Given the description of an element on the screen output the (x, y) to click on. 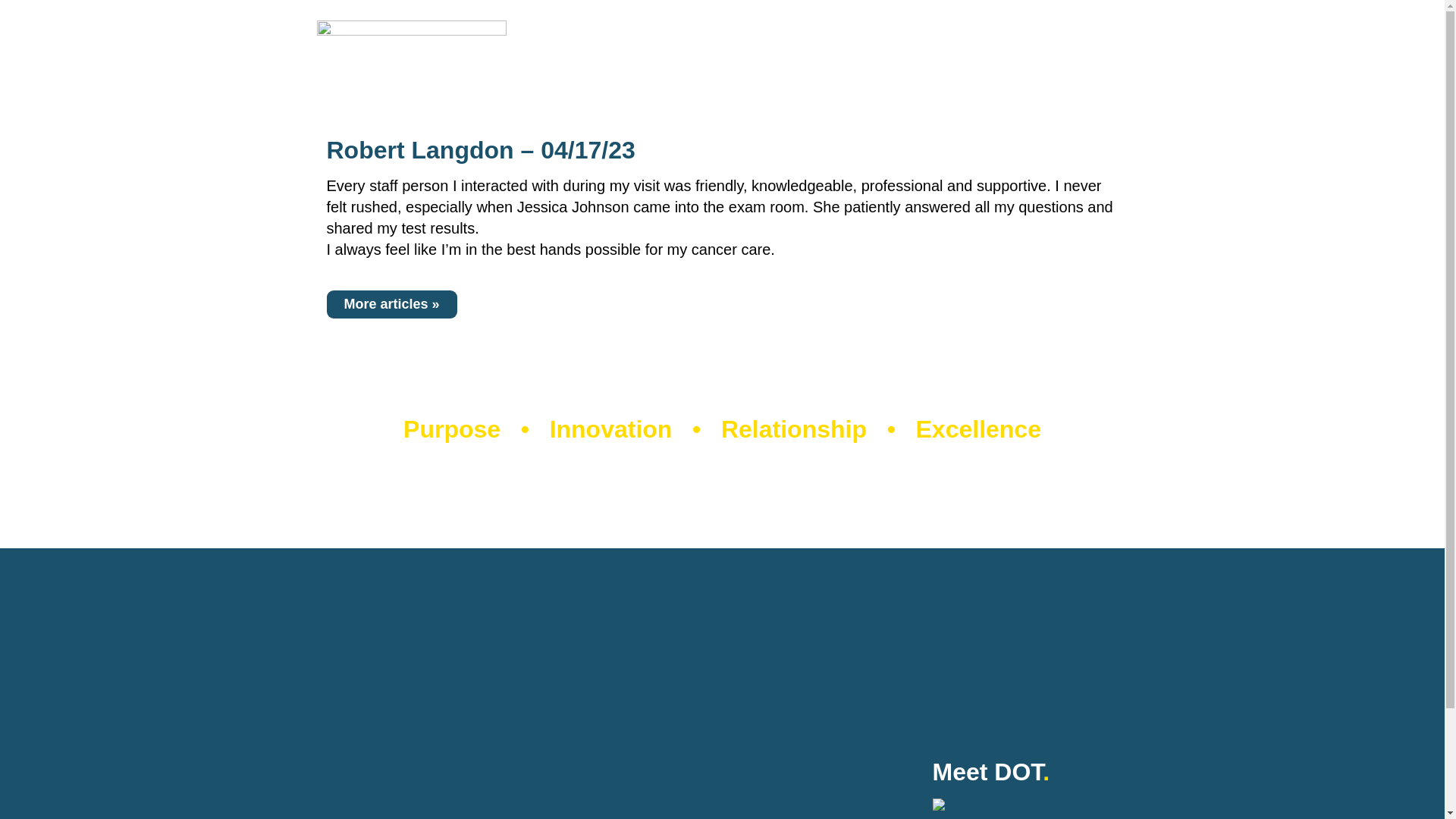
Contact (1105, 23)
Research (1037, 69)
Find a Doctor (644, 69)
Careers (1114, 69)
Patient Portal (961, 23)
Locations (816, 69)
Services (736, 69)
Bill Pay (876, 23)
Forms (1043, 23)
